Given the description of an element on the screen output the (x, y) to click on. 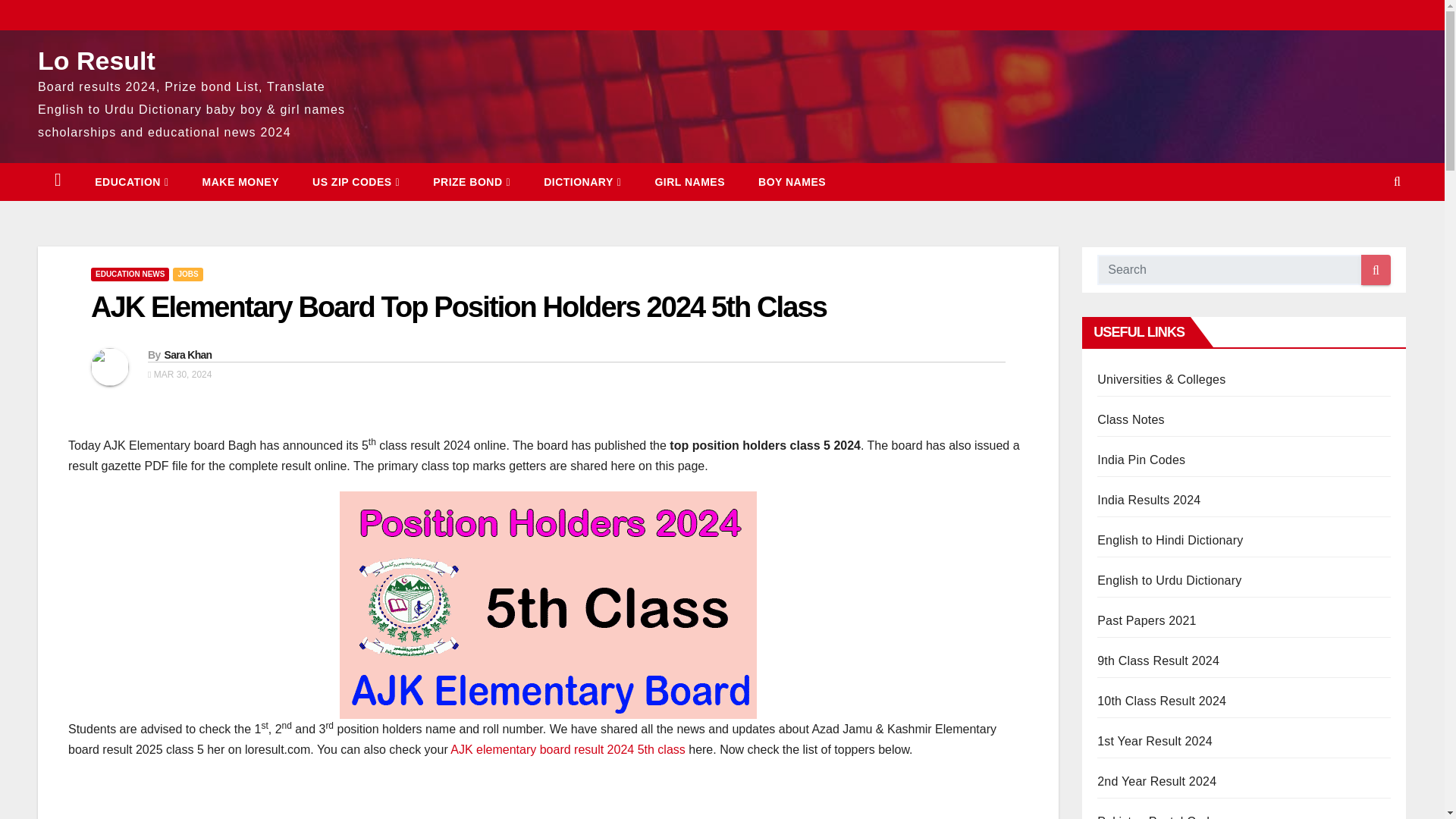
11th Class Result 2024 (1154, 740)
BOY NAMES (792, 181)
AJK elementary board result 2024 5th class (567, 748)
Lo Result (96, 60)
Postal Codes of Pakistan (1160, 816)
EDUCATION (131, 181)
English to Urdu and Urdu to English Dictionary Online 2024 (1169, 580)
EDUCATION NEWS (129, 274)
SSC Result 2024 (1161, 700)
GIRL NAMES (689, 181)
